Given the description of an element on the screen output the (x, y) to click on. 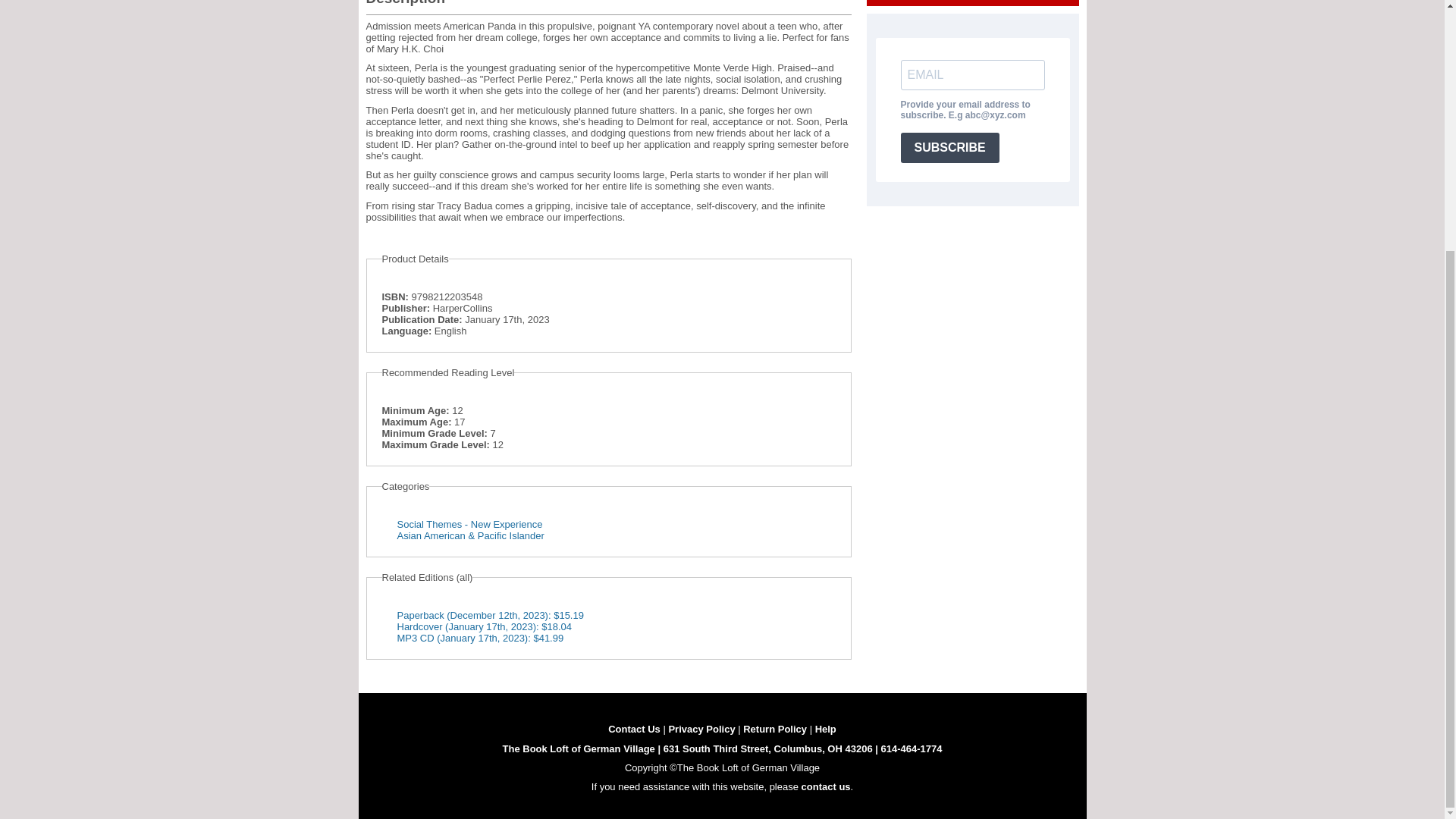
Help (825, 728)
SUBSCRIBE (949, 147)
Contact Us (634, 728)
Social Themes - New Experience (470, 523)
Return Policy (774, 728)
contact us (826, 786)
Privacy Policy (701, 728)
